Given the description of an element on the screen output the (x, y) to click on. 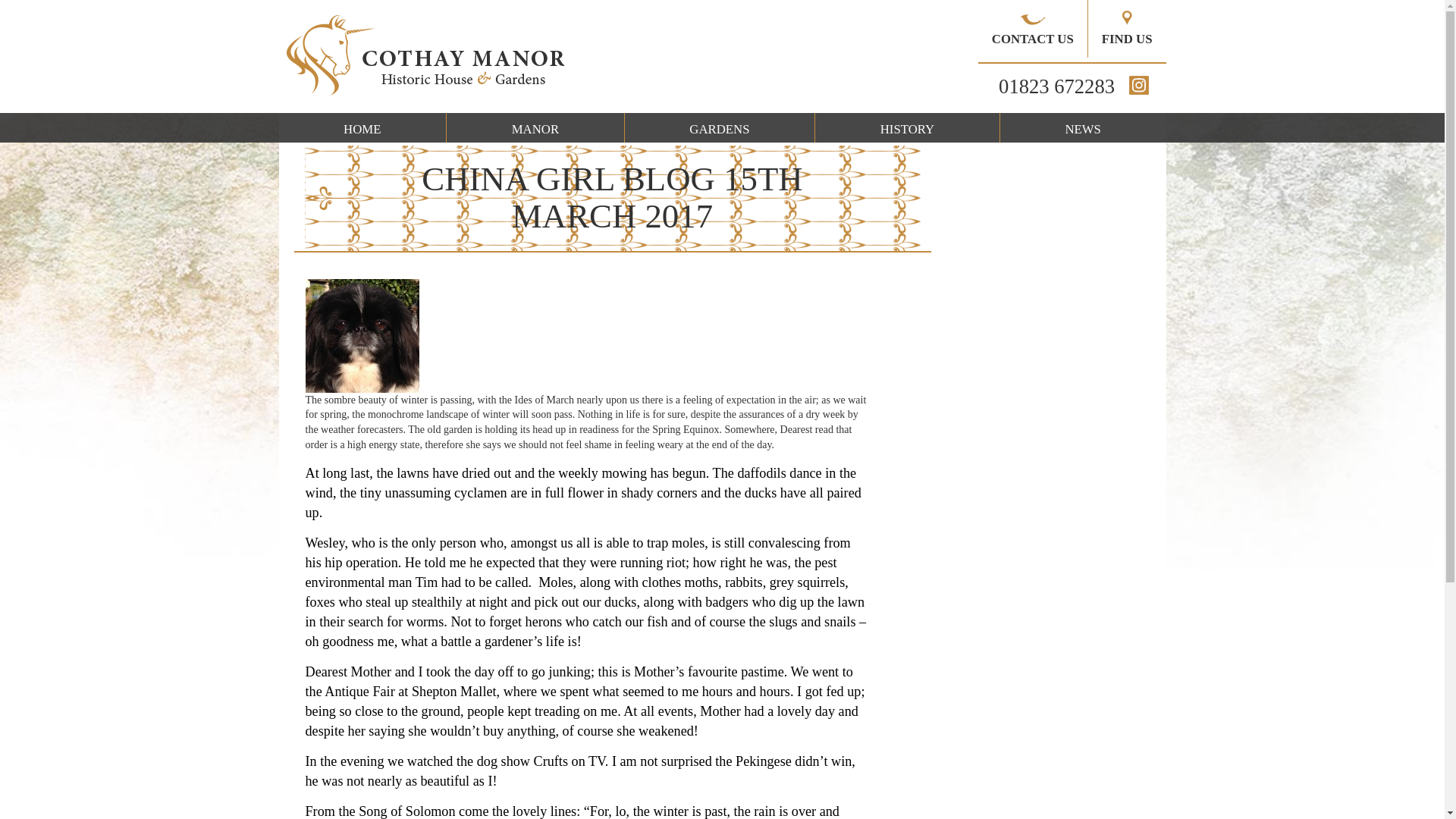
GARDENS (718, 127)
HISTORY (906, 127)
HOME (362, 127)
Find us on Instagram (1138, 85)
NEWS (1083, 127)
CONTACT US (1032, 28)
MANOR (535, 127)
FIND US (1126, 28)
